Given the description of an element on the screen output the (x, y) to click on. 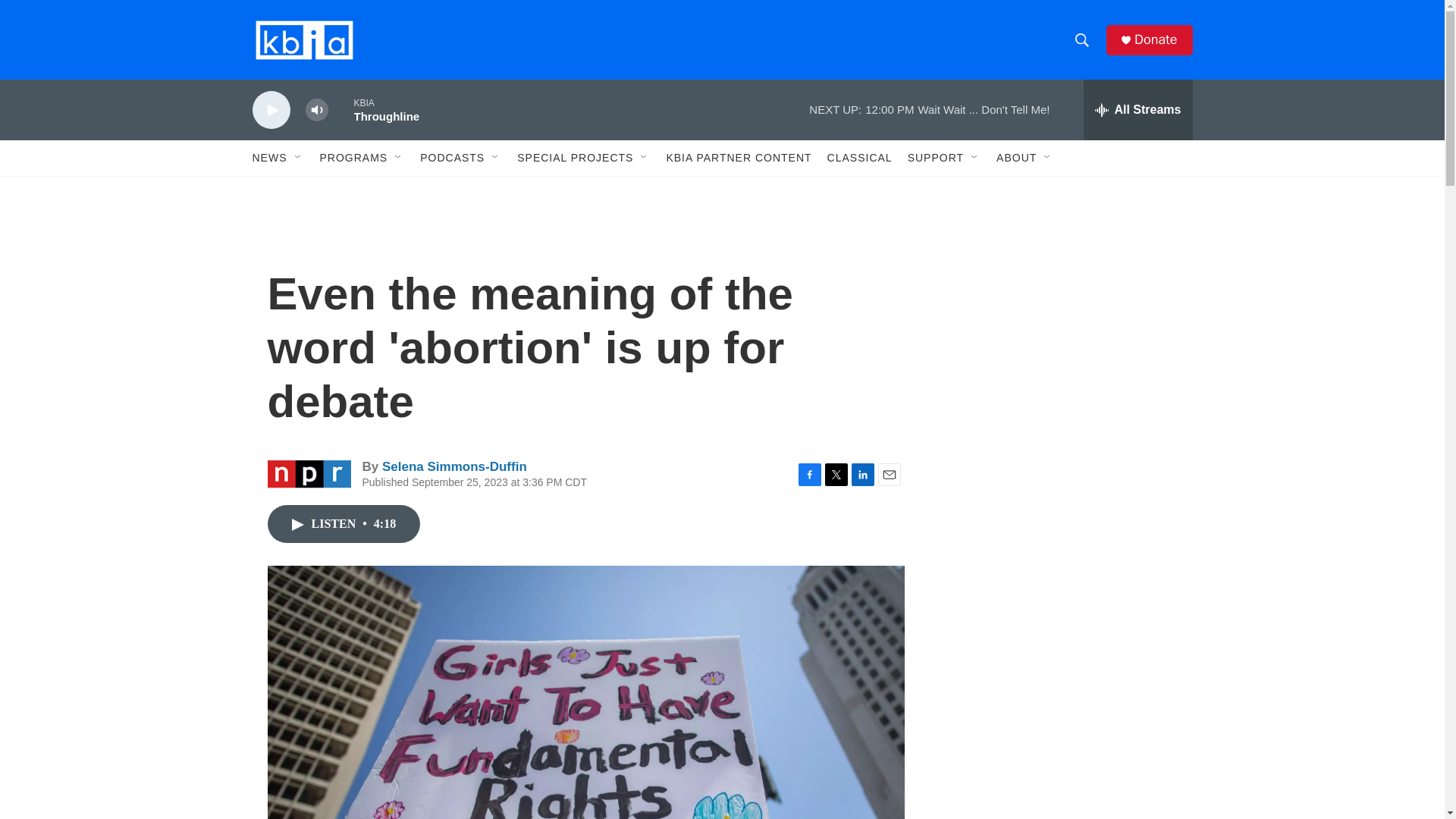
3rd party ad content (1062, 740)
3rd party ad content (1062, 536)
3rd party ad content (1062, 316)
